Given the description of an element on the screen output the (x, y) to click on. 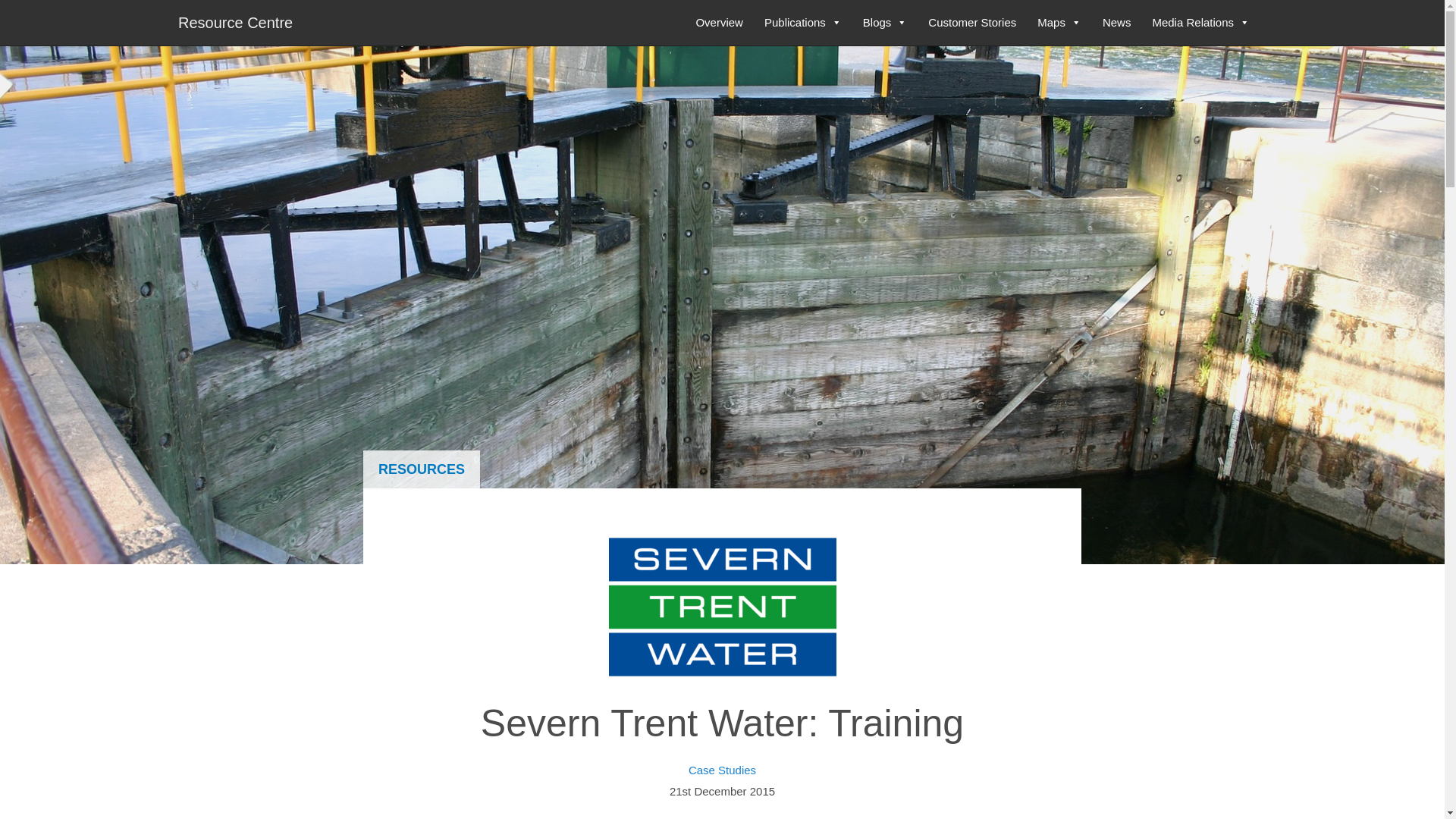
Customer Stories (971, 22)
Maps (1059, 22)
Resource Centre (234, 21)
News (1116, 22)
Overview (719, 22)
Publications (802, 22)
Case Studies (721, 769)
Blogs (884, 22)
Media Relations (1200, 22)
